Given the description of an element on the screen output the (x, y) to click on. 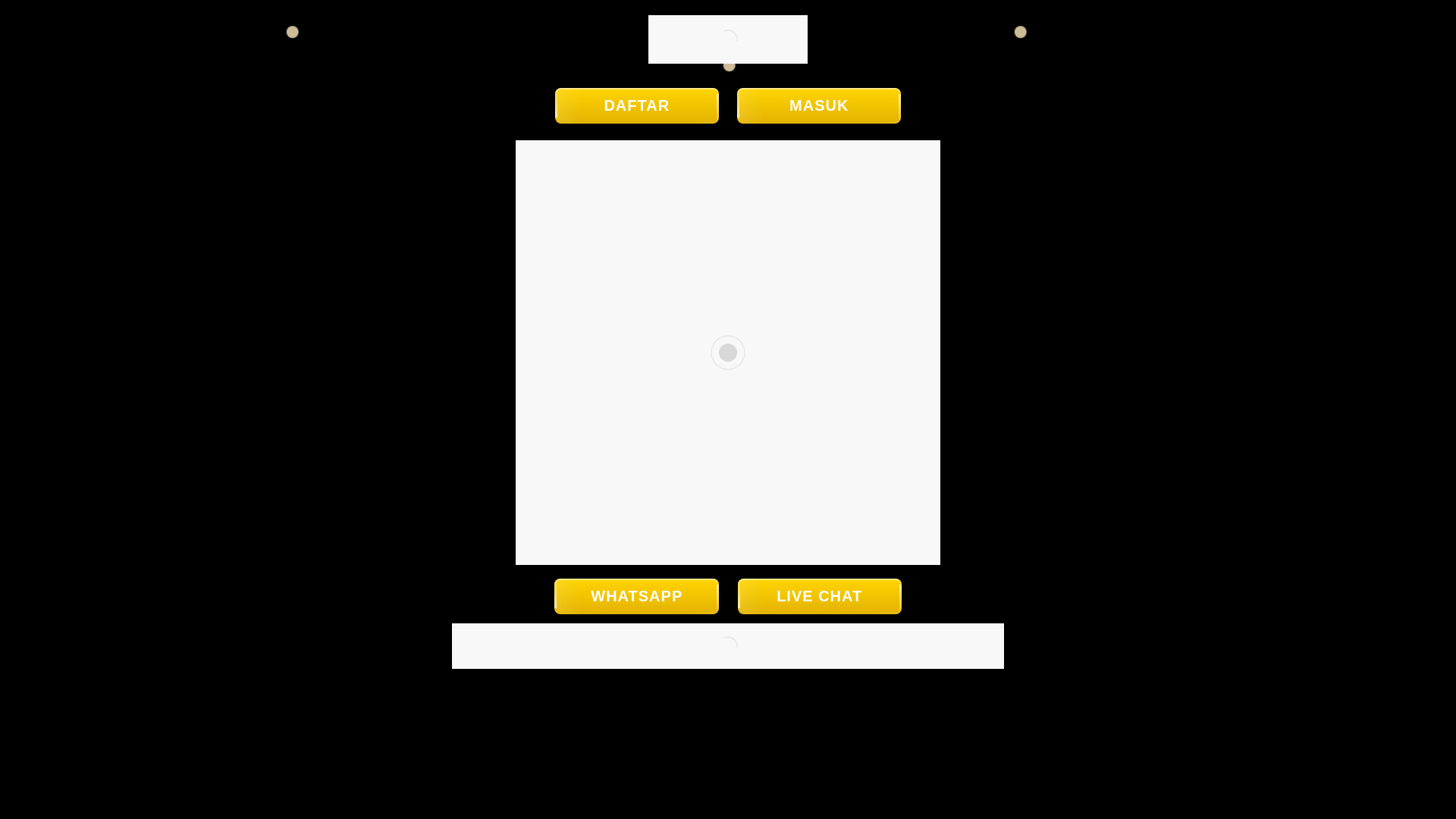
WHATSAPP (636, 596)
MASUK (818, 105)
DAFTAR (636, 105)
LIVE CHAT (819, 596)
